Given the description of an element on the screen output the (x, y) to click on. 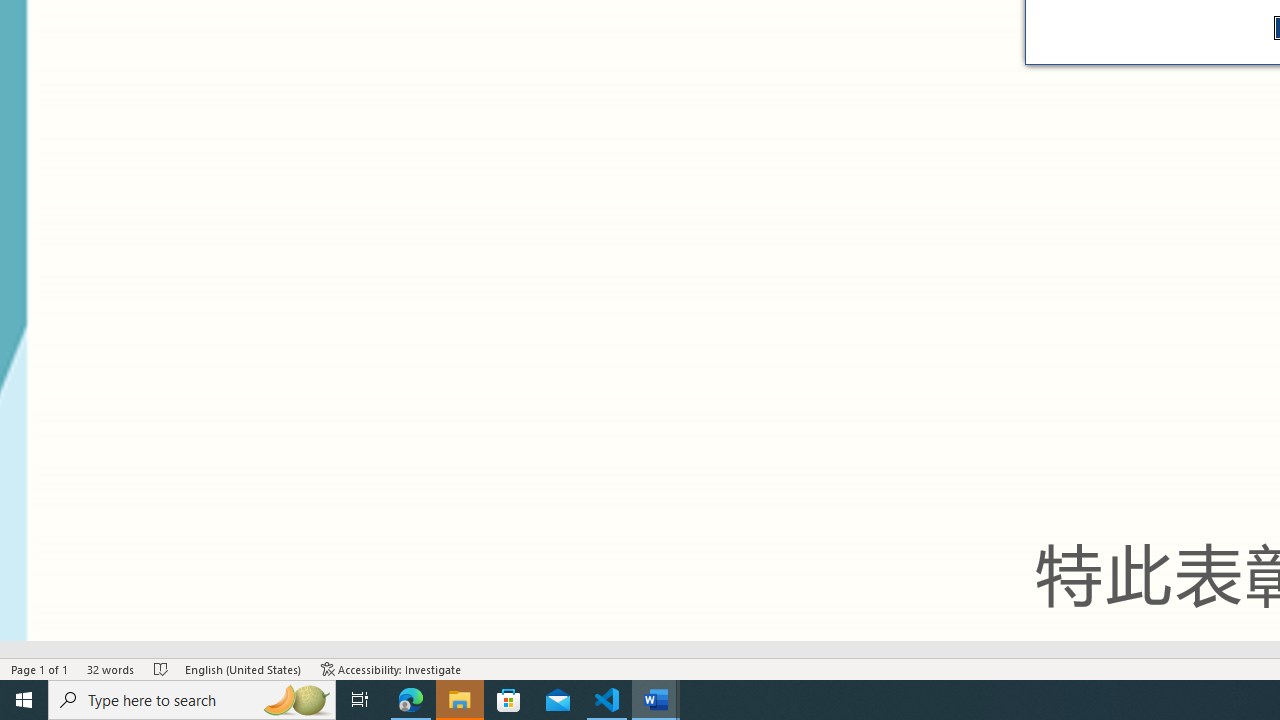
Search highlights icon opens search home window (295, 699)
Visual Studio Code - 1 running window (607, 699)
Language English (United States) (243, 668)
Word - 2 running windows (656, 699)
Microsoft Store (509, 699)
Type here to search (191, 699)
Task View (359, 699)
Spelling and Grammar Check No Errors (161, 668)
Microsoft Edge - 1 running window (411, 699)
Page Number Page 1 of 1 (39, 668)
Accessibility Checker Accessibility: Investigate (391, 668)
File Explorer - 1 running window (460, 699)
Word Count 32 words (111, 668)
Start (24, 699)
